Given the description of an element on the screen output the (x, y) to click on. 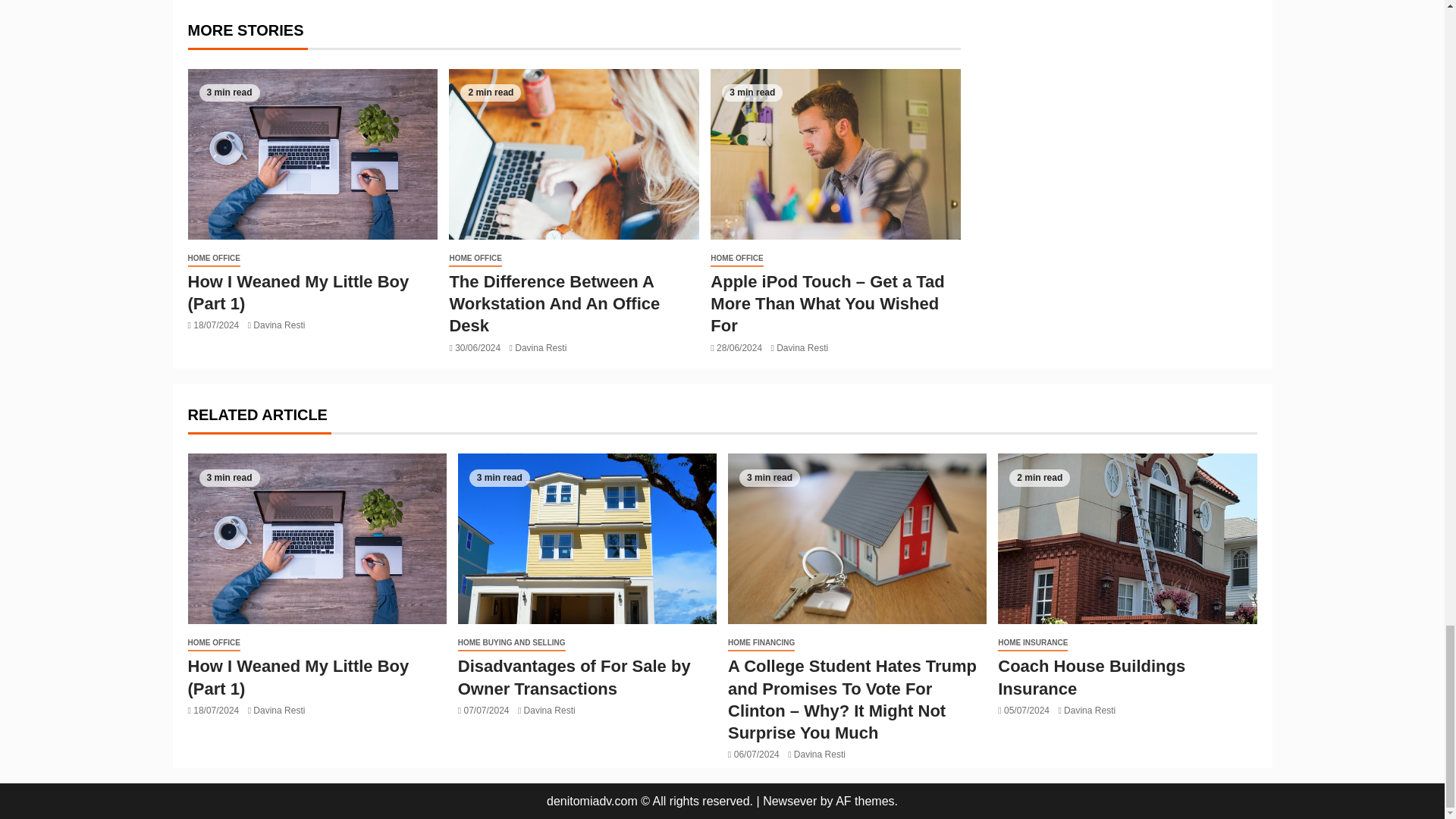
The Difference Between A Workstation And An Office Desk (573, 153)
